Given the description of an element on the screen output the (x, y) to click on. 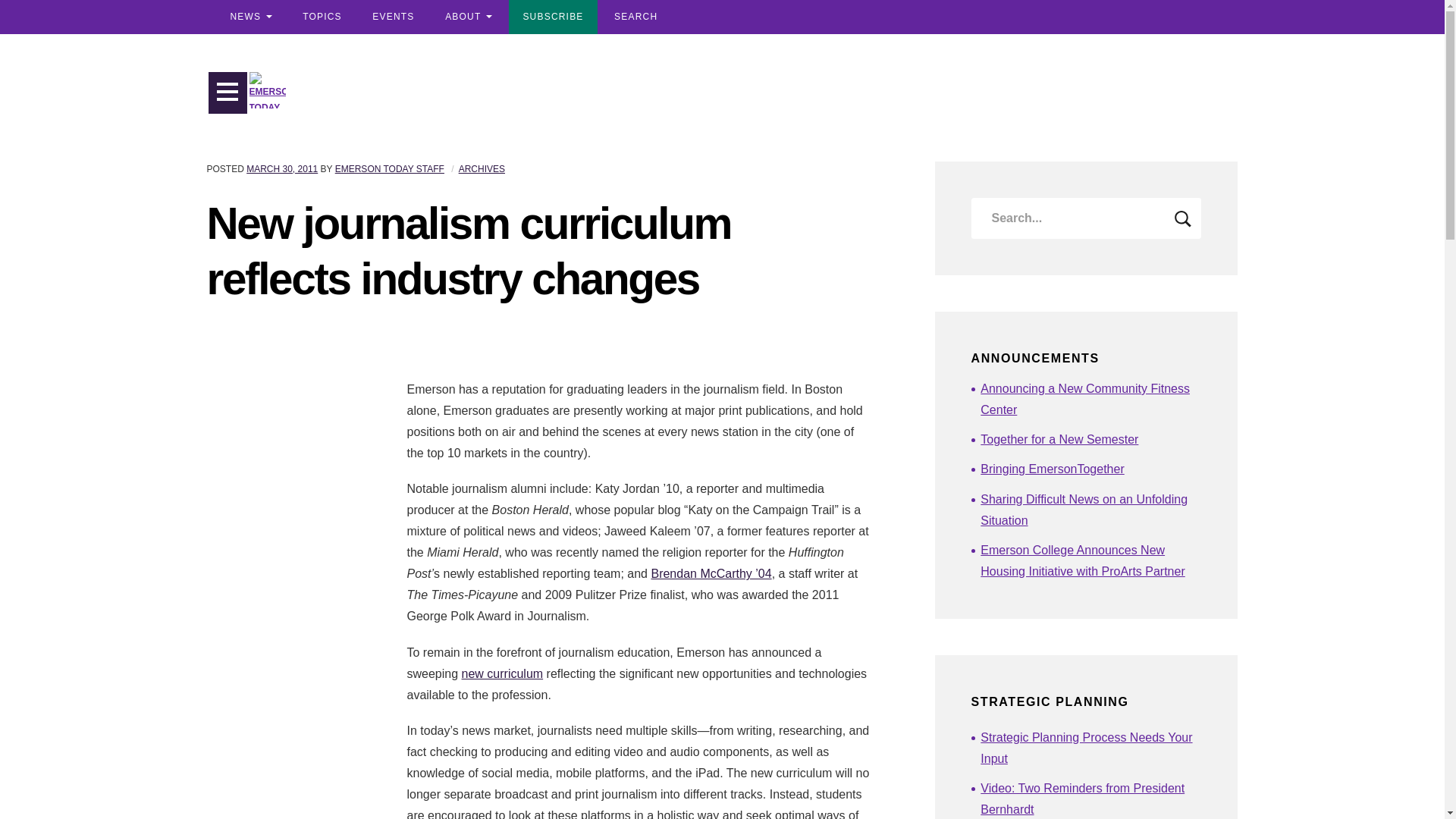
Bringing EmersonTogether (1090, 468)
EMERSON TODAY STAFF (389, 168)
EVENTS (393, 17)
Strategic Planning Process Needs Your Input (1090, 748)
Together for a New Semester (1090, 439)
MARCH 30, 2011 (281, 168)
SUBSCRIBE (552, 17)
new curriculum (502, 673)
NEWS (250, 17)
